Given the description of an element on the screen output the (x, y) to click on. 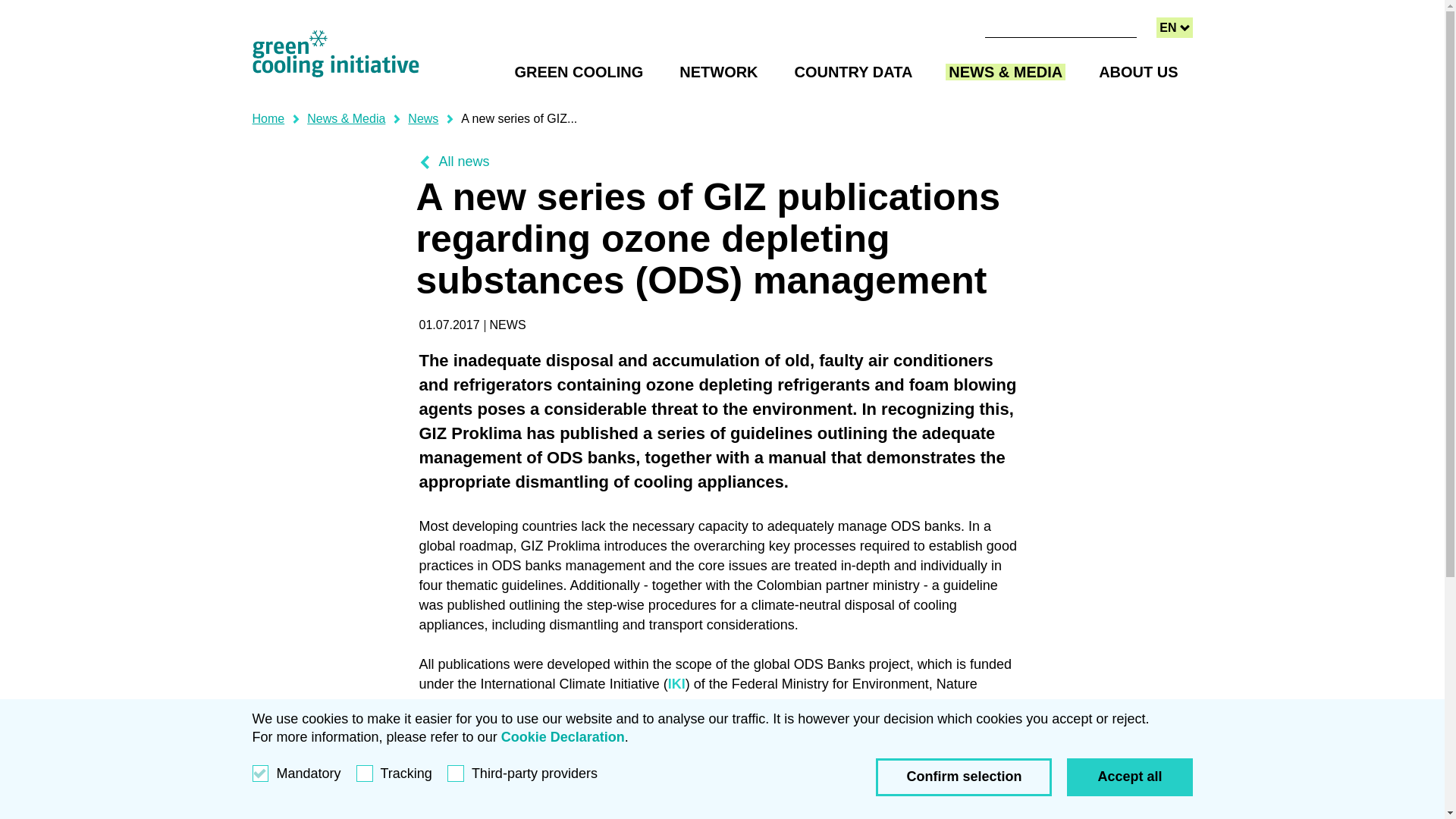
COUNTRY DATA (853, 71)
All news (454, 161)
Opens external link in new window (1008, 703)
News (422, 118)
Opens external link in new window (676, 683)
on (1174, 27)
GREEN COOLING (718, 71)
Home (578, 71)
ABOUT US (267, 118)
on (1138, 71)
Content (518, 118)
